Given the description of an element on the screen output the (x, y) to click on. 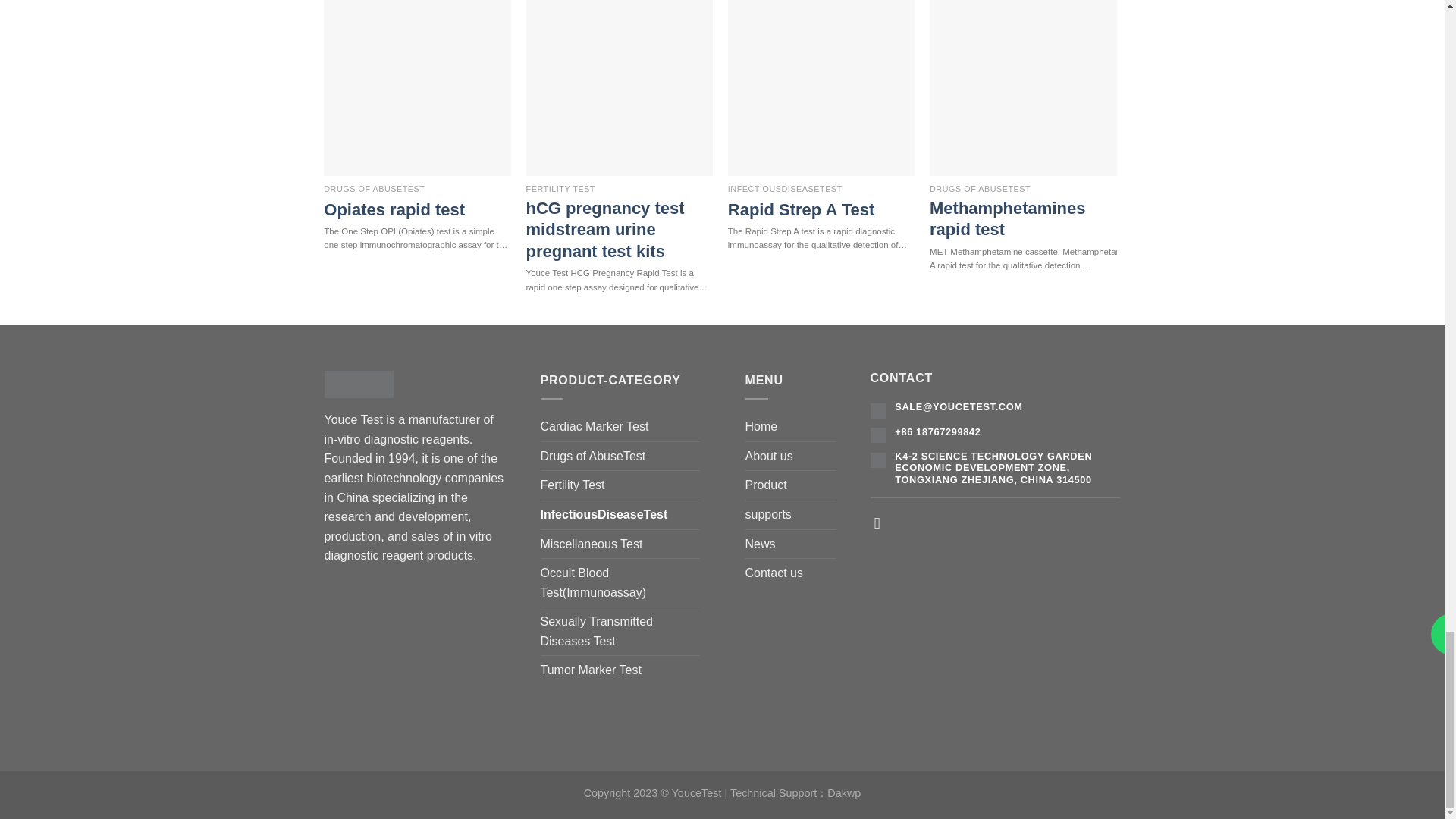
Follow on LinkedIn (882, 522)
